Given the description of an element on the screen output the (x, y) to click on. 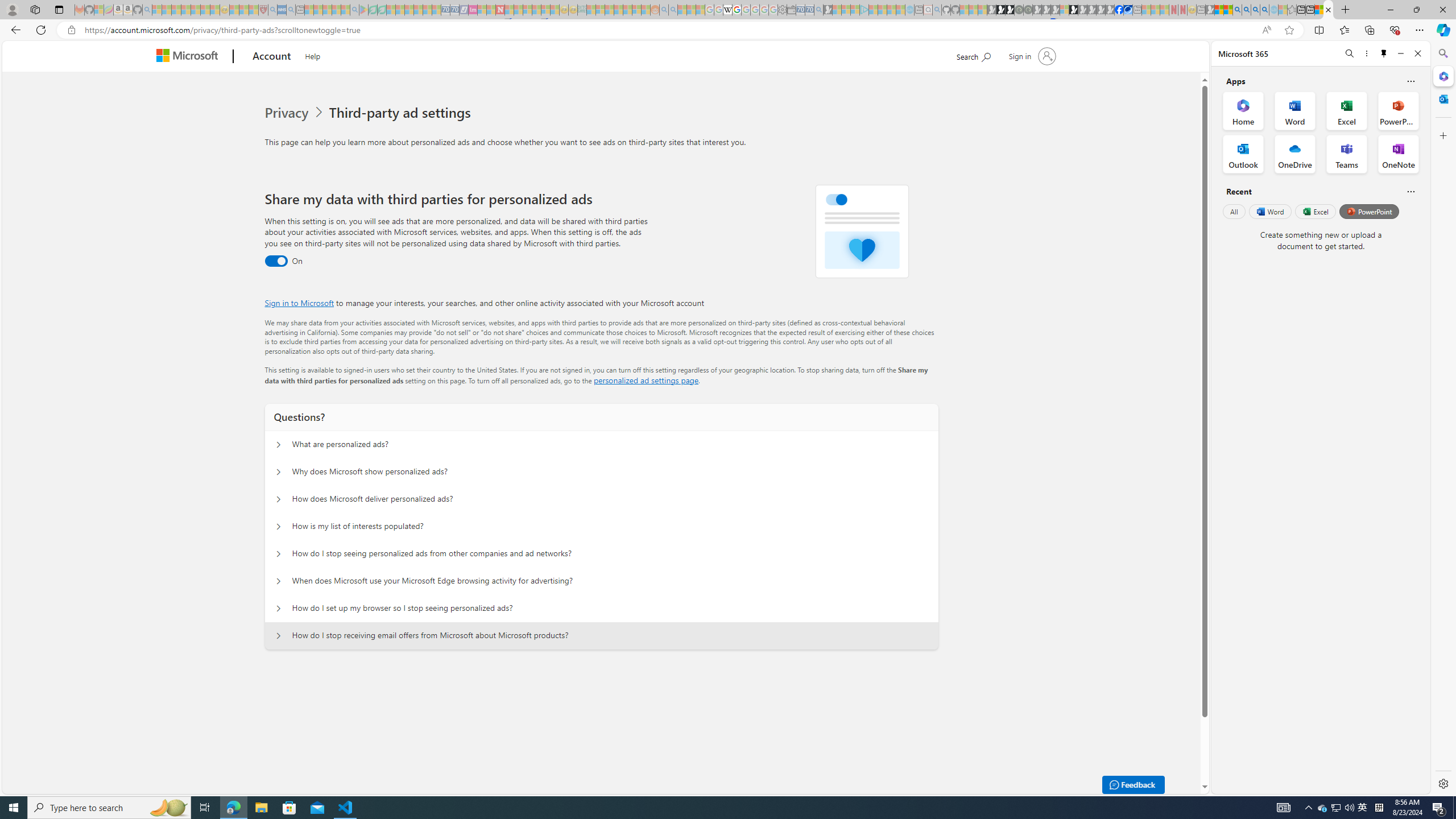
Excel Office App (1346, 110)
AirNow.gov (1127, 9)
Sign in to Microsoft (299, 302)
Bing AI - Search (1236, 9)
Account (272, 56)
